Given the description of an element on the screen output the (x, y) to click on. 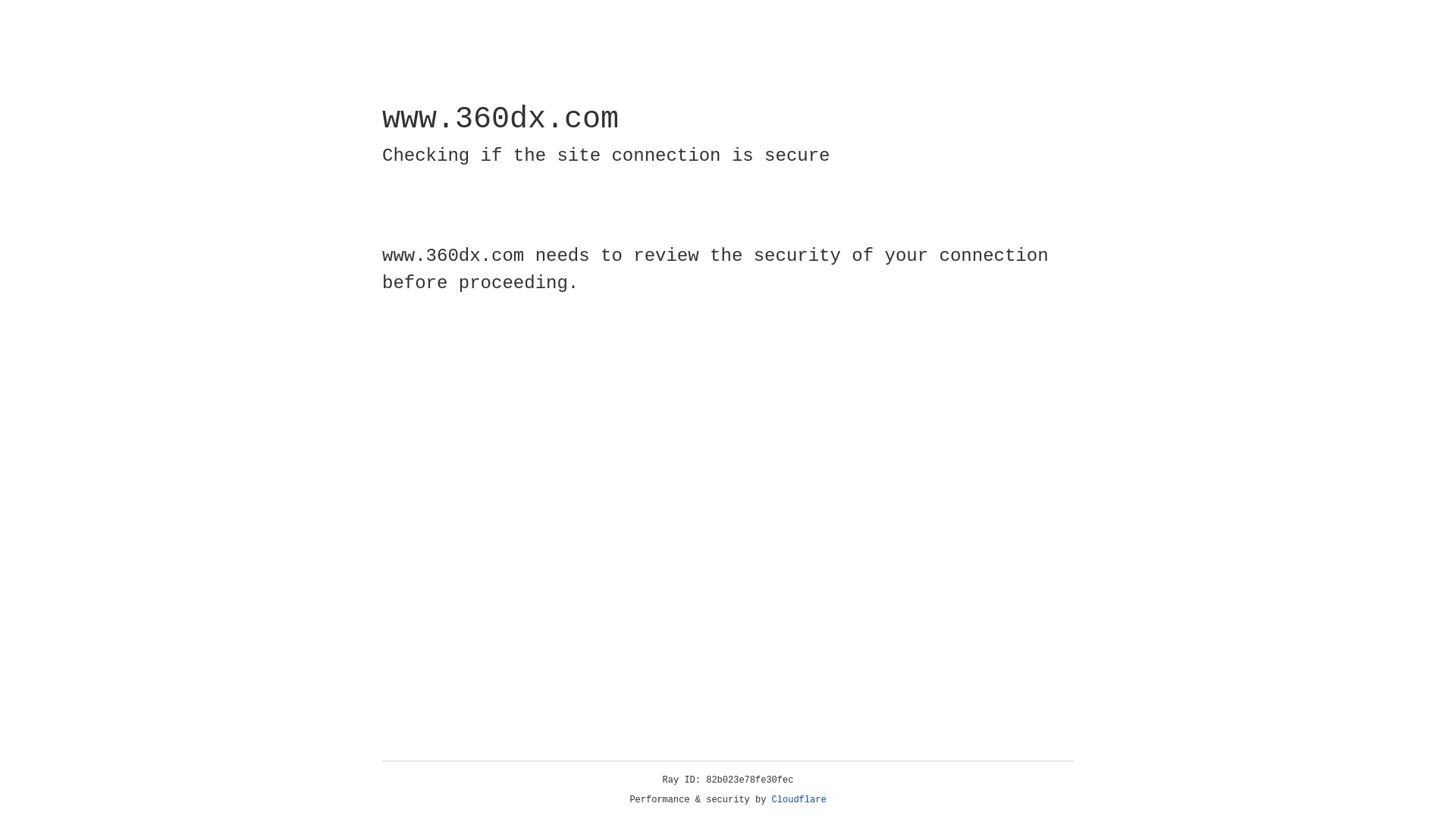
Cloudflare Element type: text (798, 799)
